Given the description of an element on the screen output the (x, y) to click on. 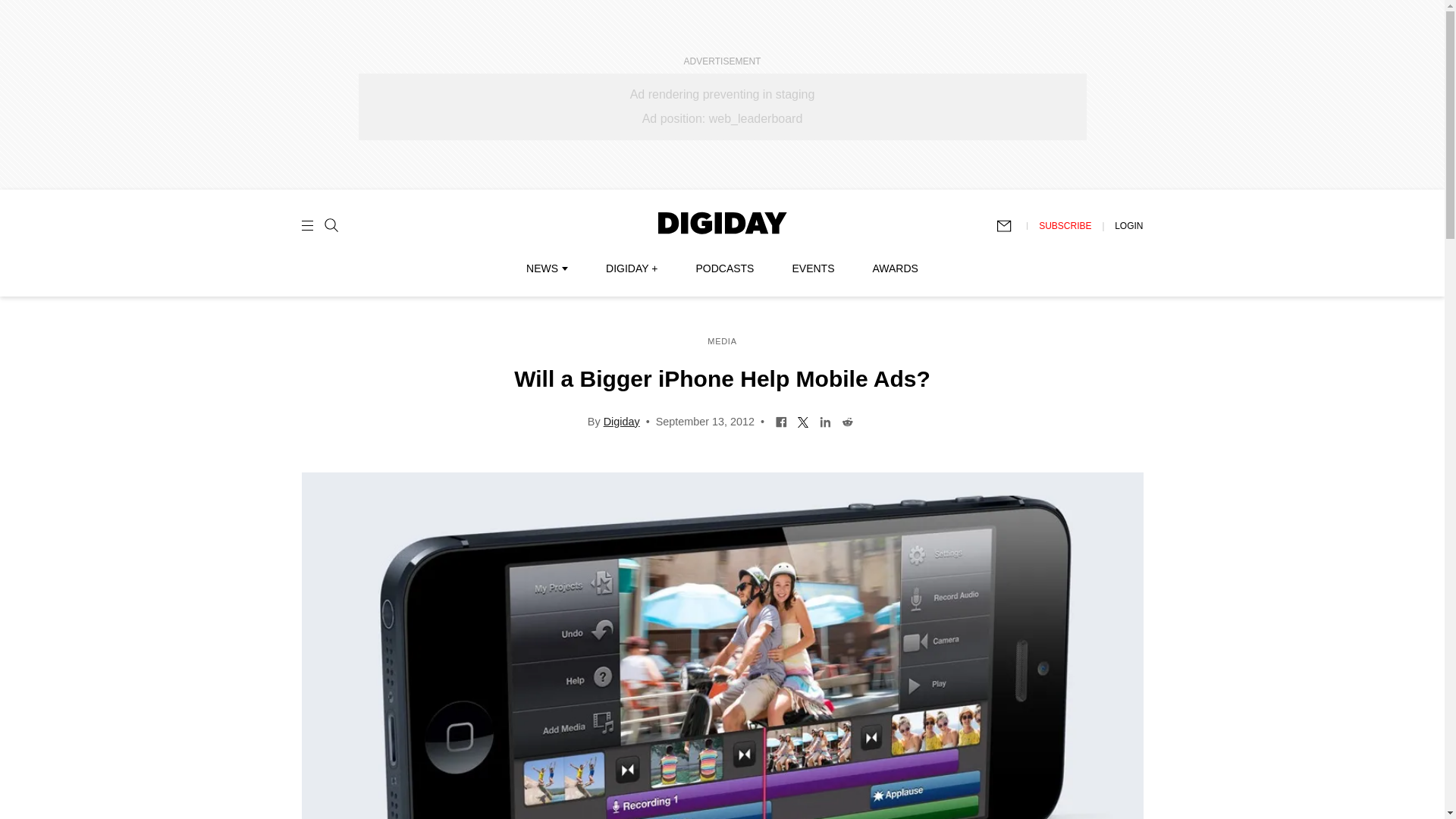
NEWS (546, 267)
Share on Facebook (780, 420)
EVENTS (813, 267)
AWARDS (894, 267)
Share on LinkedIn (824, 420)
PODCASTS (725, 267)
Share on Reddit (847, 420)
LOGIN (1128, 225)
Share on Twitter (802, 420)
Subscribe (1010, 225)
